Given the description of an element on the screen output the (x, y) to click on. 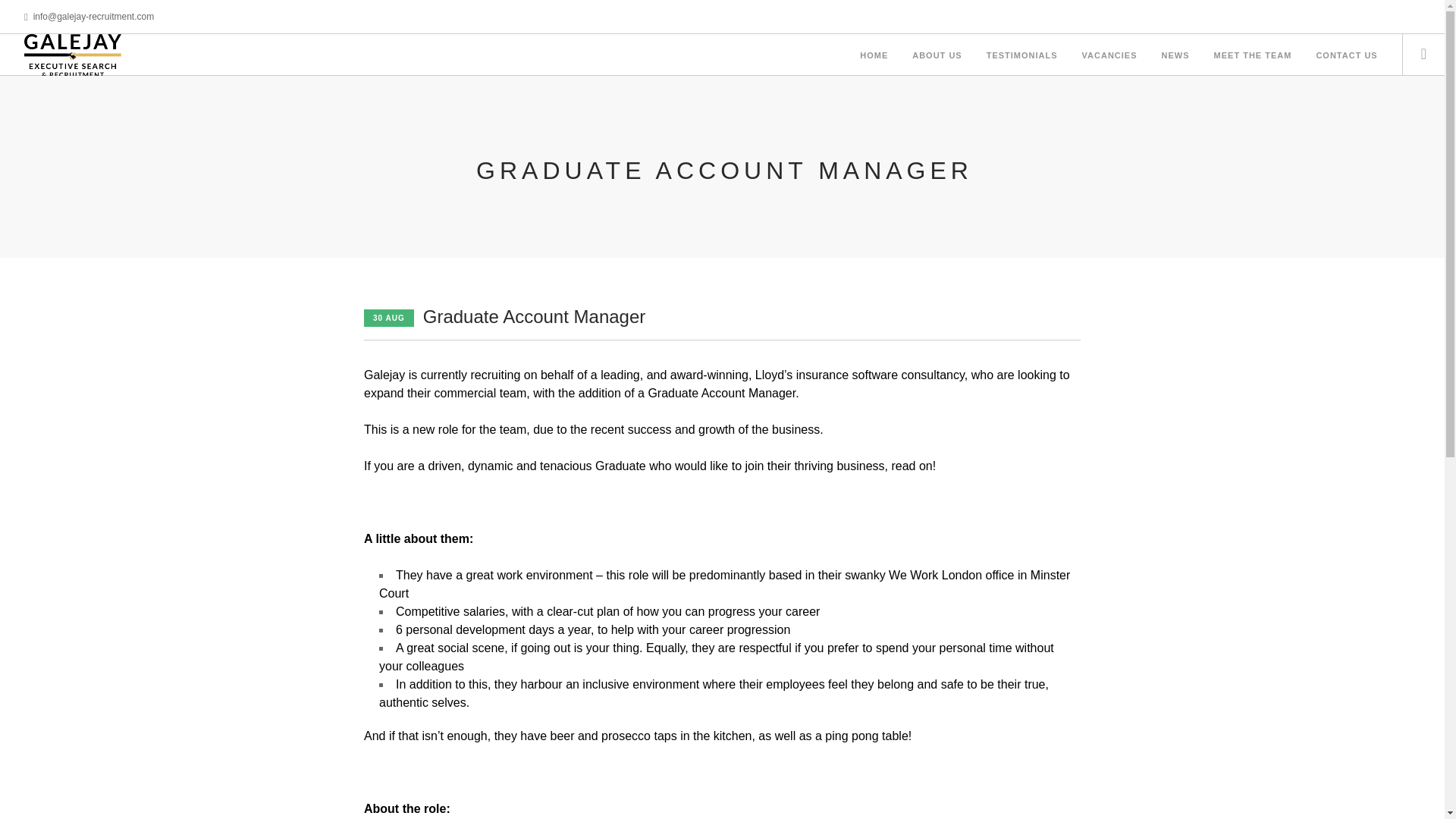
CONTACT US (1346, 56)
30 AUGGraduate Account Manager (504, 317)
MEET THE TEAM (1253, 56)
TESTIMONIALS (1022, 56)
ABOUT US (936, 56)
VACANCIES (1109, 56)
